Given the description of an element on the screen output the (x, y) to click on. 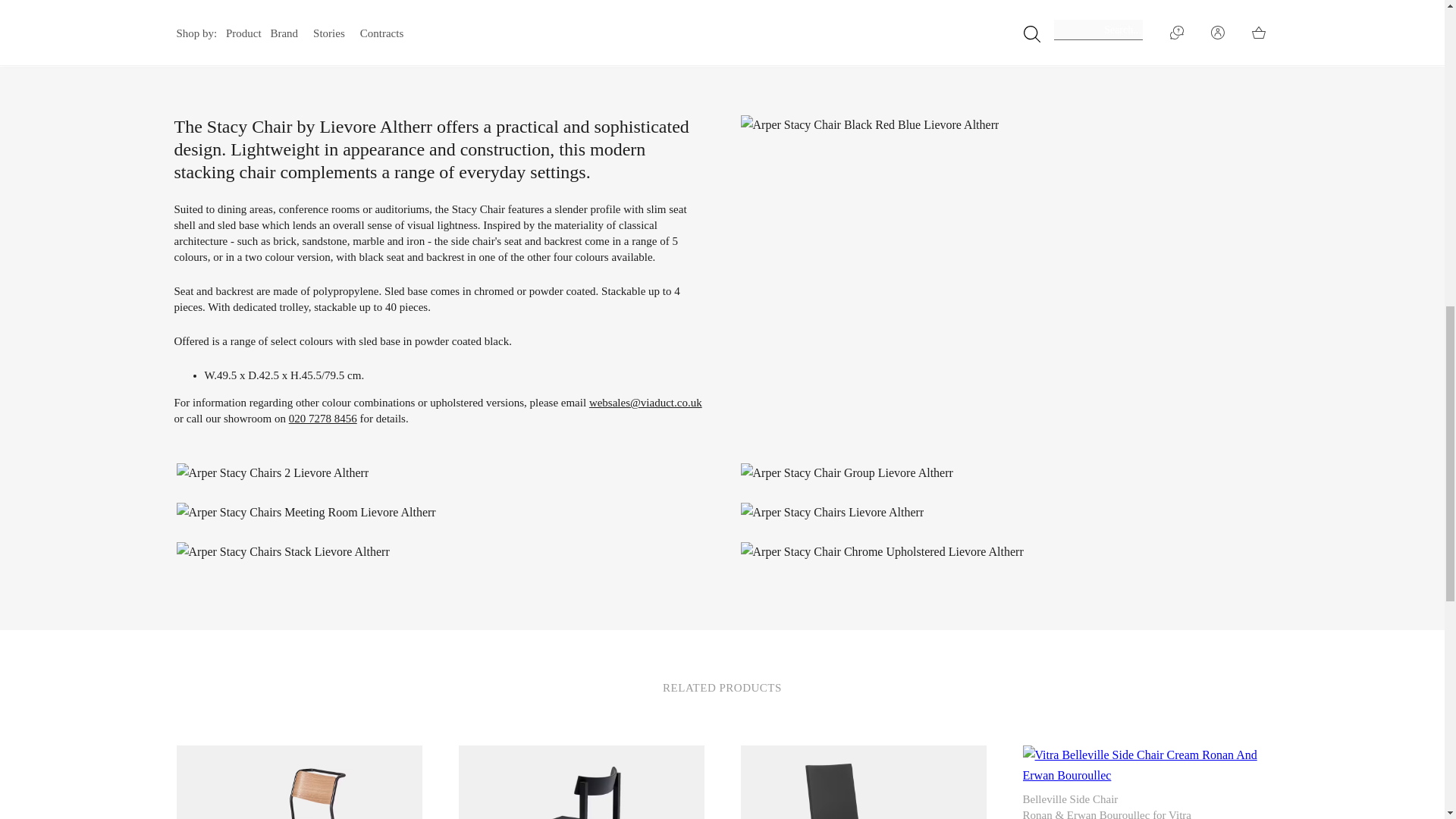
Mattiazzi Primo Chair Black Konstantin Grcic (580, 782)
Very Good And Proper Canteen Utility Chair Klauser Carpenter (299, 782)
Vitra 03 chair black van severen ct 1 (862, 782)
Vitra Belleville Side Chair Cream Ronan And Erwan Bouroullec (1145, 765)
